Given the description of an element on the screen output the (x, y) to click on. 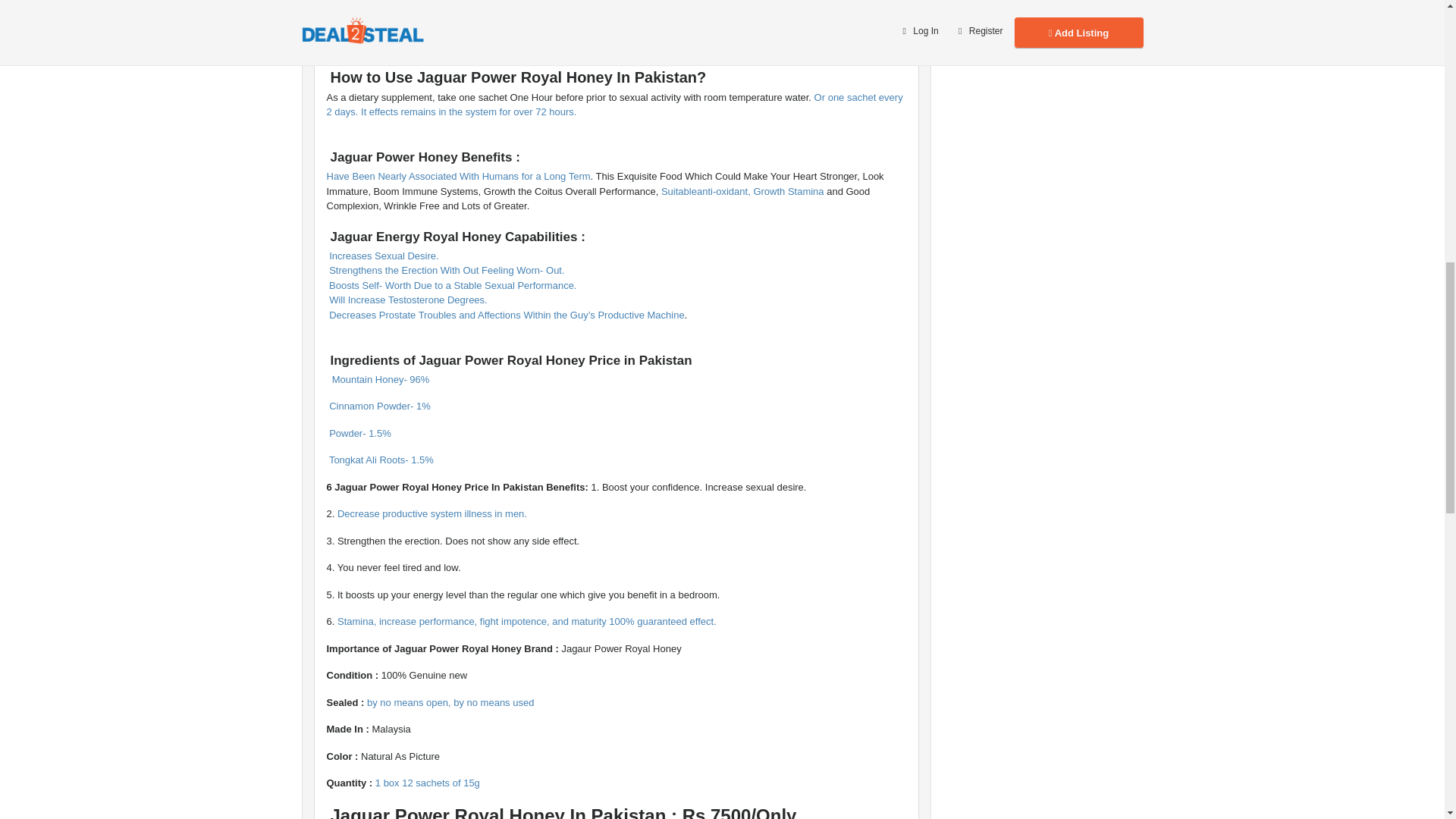
Have Been Nearly Associated With Humans for a Long Term (457, 175)
Strengthens the Erection With Out Feeling Worn- Out.  (448, 270)
Decrease productive system illness in men. (432, 513)
Will Increase Testosterone Degrees.  (409, 299)
 Boosts Self- Worth Due to a Stable Sexual Performance.  (452, 284)
Growth Stamina (788, 190)
Increases Sexual Desire.  (385, 255)
Suitableanti-oxidant, (706, 190)
